Given the description of an element on the screen output the (x, y) to click on. 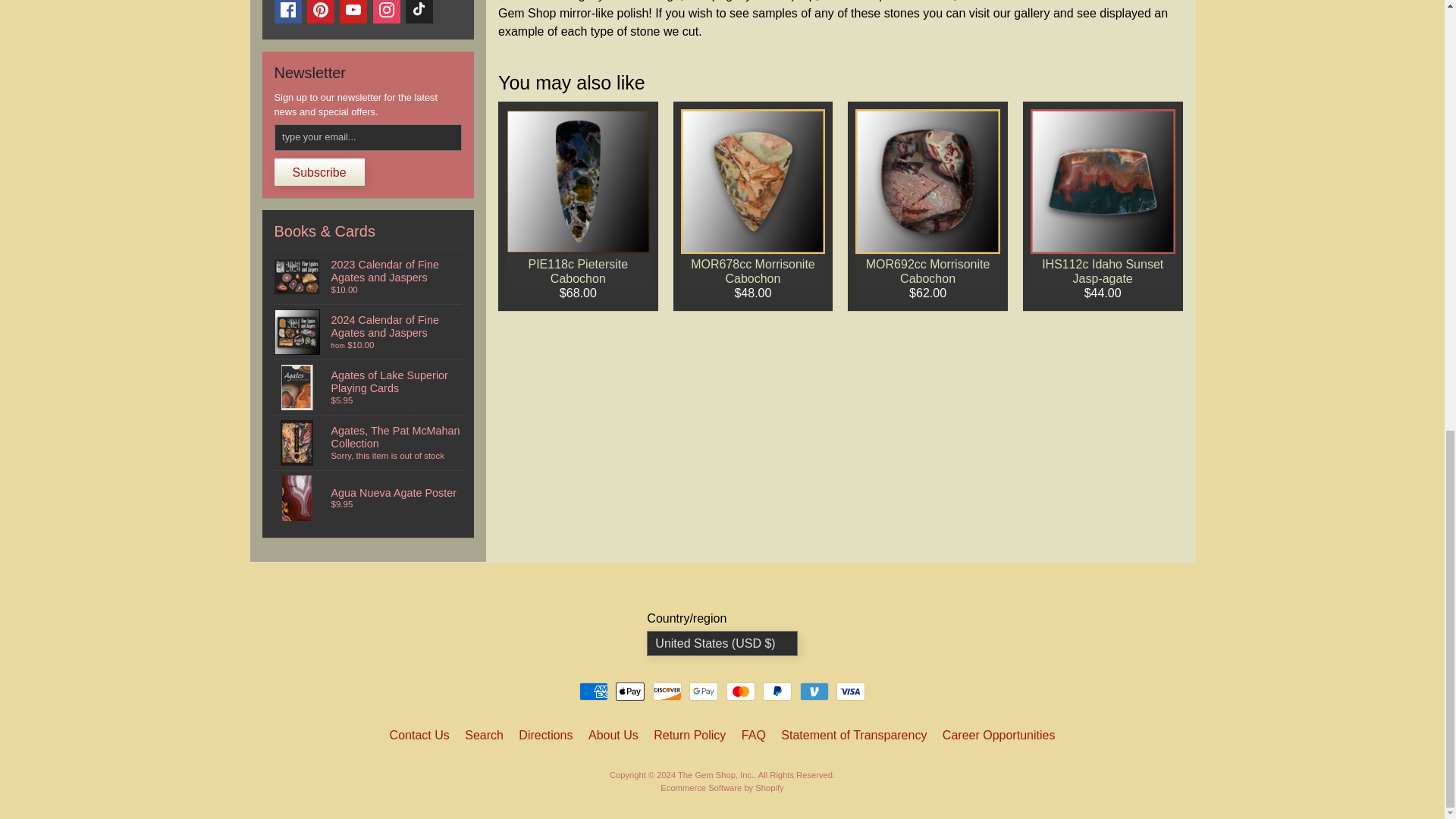
Discover (666, 691)
American Express (593, 691)
Mastercard (740, 691)
TikTok (419, 11)
PayPal (777, 691)
Youtube (352, 11)
2023 Calendar of Fine Agates and Jaspers (369, 276)
Agates of Lake Superior Playing Cards (369, 387)
Agua Nueva Agate Poster (369, 497)
Facebook (288, 11)
